Given the description of an element on the screen output the (x, y) to click on. 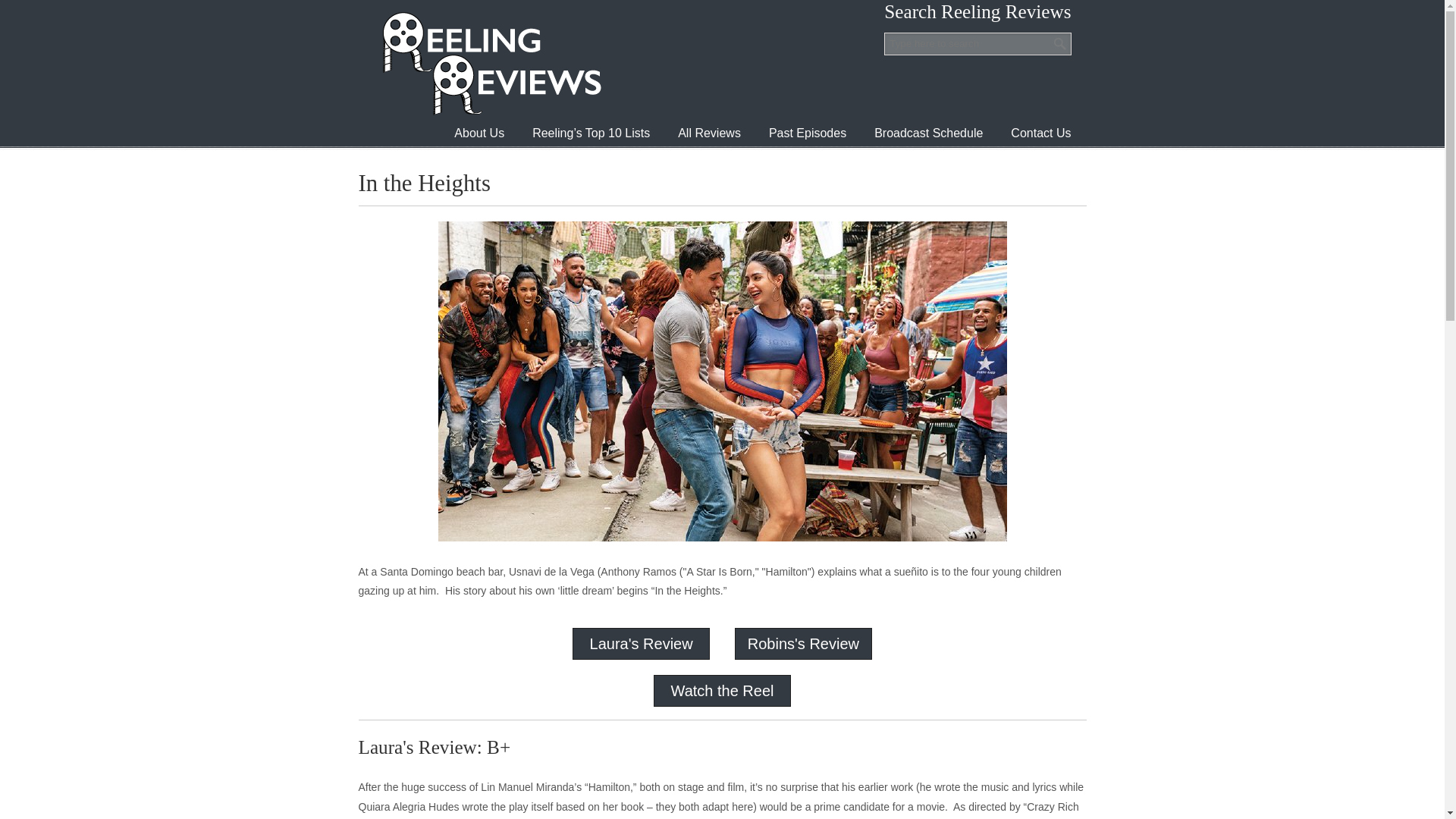
Reeling Reviews (489, 63)
Watch the Reel (721, 690)
Contact Us (1040, 133)
About Us (479, 133)
Laura's Review (641, 643)
Broadcast Schedule (928, 133)
All Reviews (708, 133)
Past Episodes (807, 133)
Reeling Reviews (489, 63)
Robins's Review (803, 643)
